Given the description of an element on the screen output the (x, y) to click on. 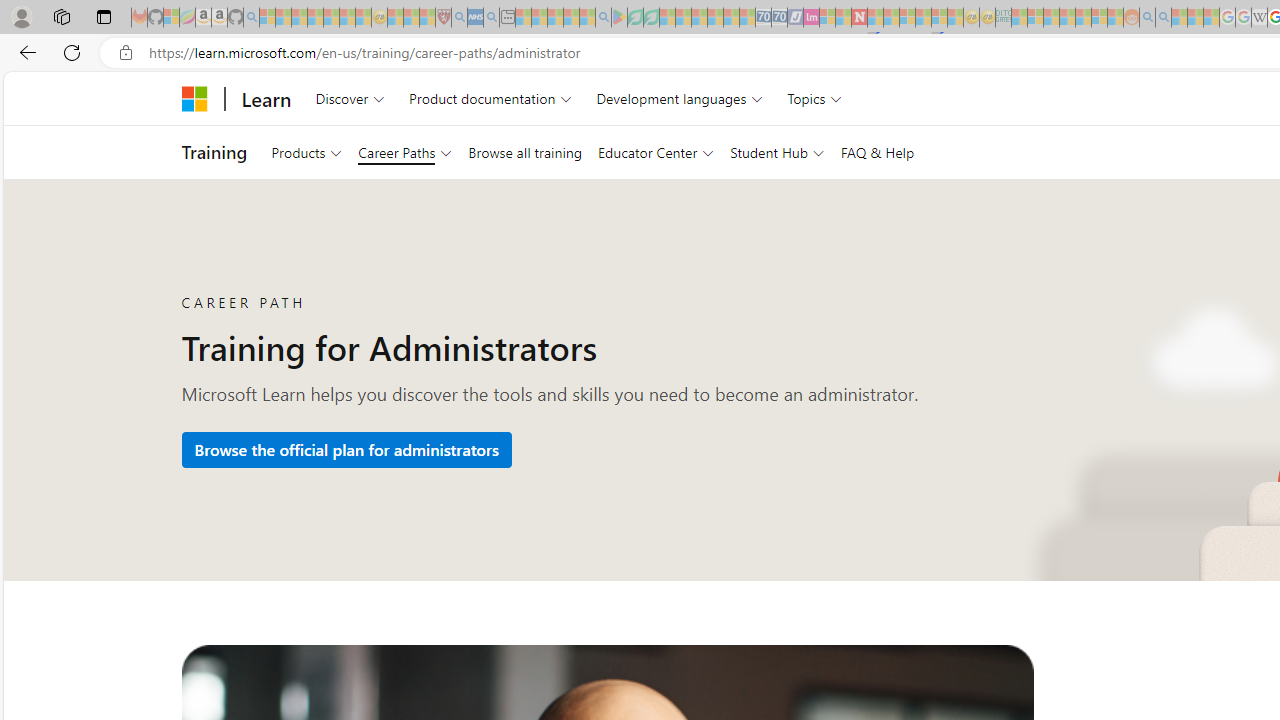
New tab - Sleeping (507, 17)
Recipes - MSN - Sleeping (395, 17)
Student Hub (777, 152)
New Report Confirms 2023 Was Record Hot | Watch - Sleeping (331, 17)
Educator Center (655, 152)
Career Paths (404, 152)
Products (306, 152)
Trusted Community Engagement and Contributions | Guidelines (875, 17)
Cheap Hotels - Save70.com - Sleeping (779, 17)
Product documentation (490, 98)
Microsoft (193, 98)
